Given the description of an element on the screen output the (x, y) to click on. 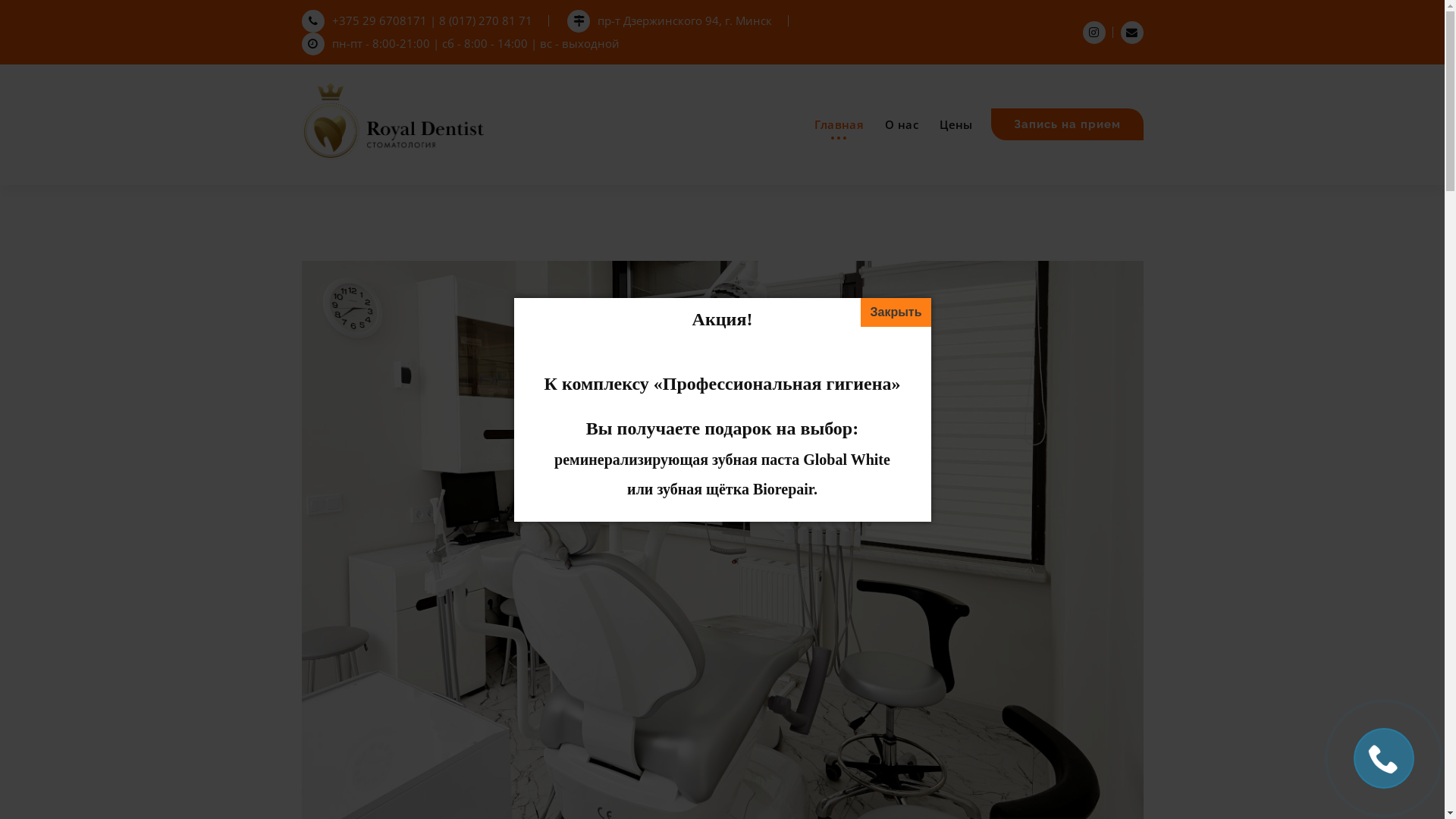
+375 29 6708171 | 8 (017) 270 81 71 Element type: text (416, 19)
